Given the description of an element on the screen output the (x, y) to click on. 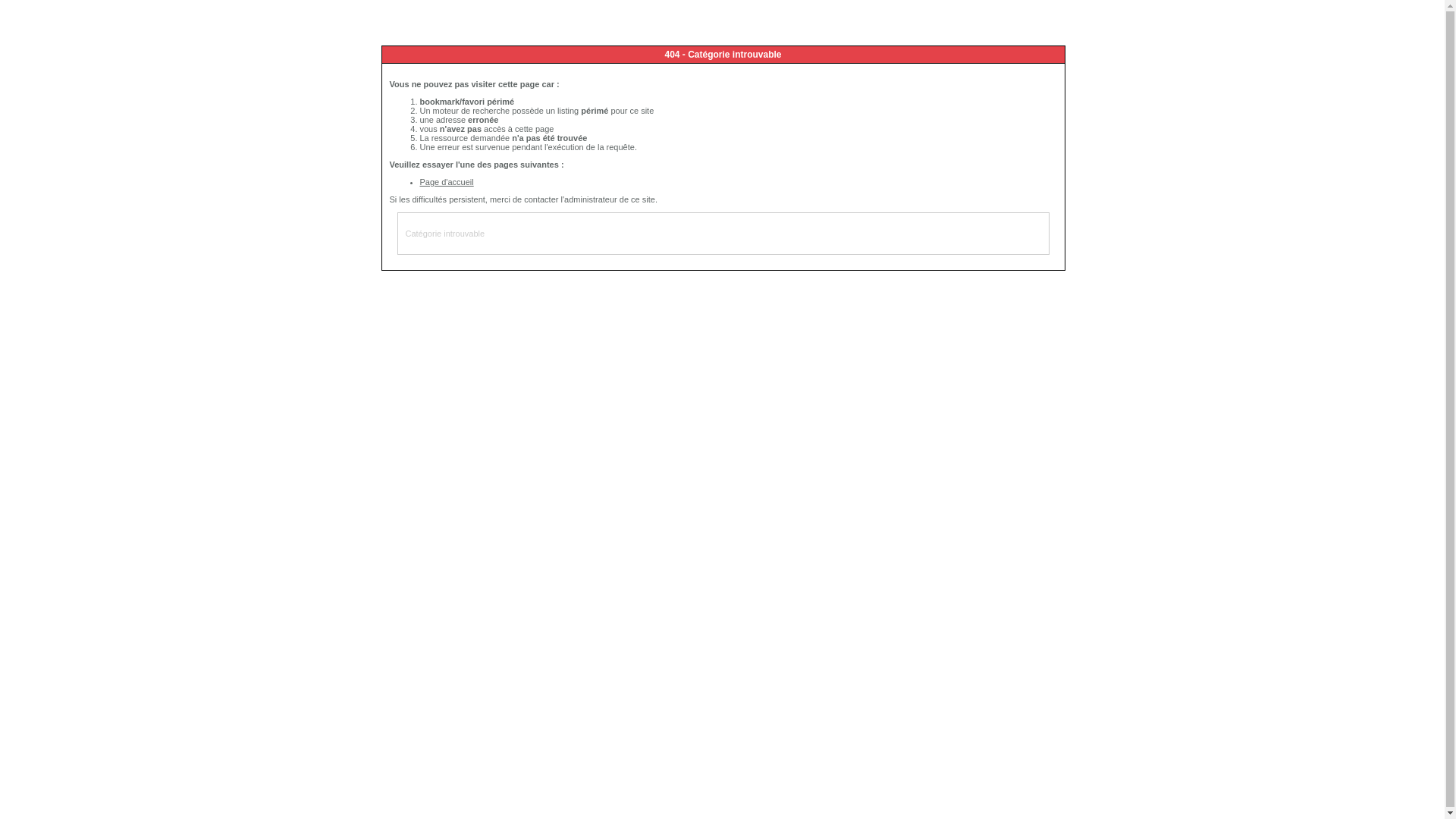
Page d'accueil Element type: text (446, 181)
